Given the description of an element on the screen output the (x, y) to click on. 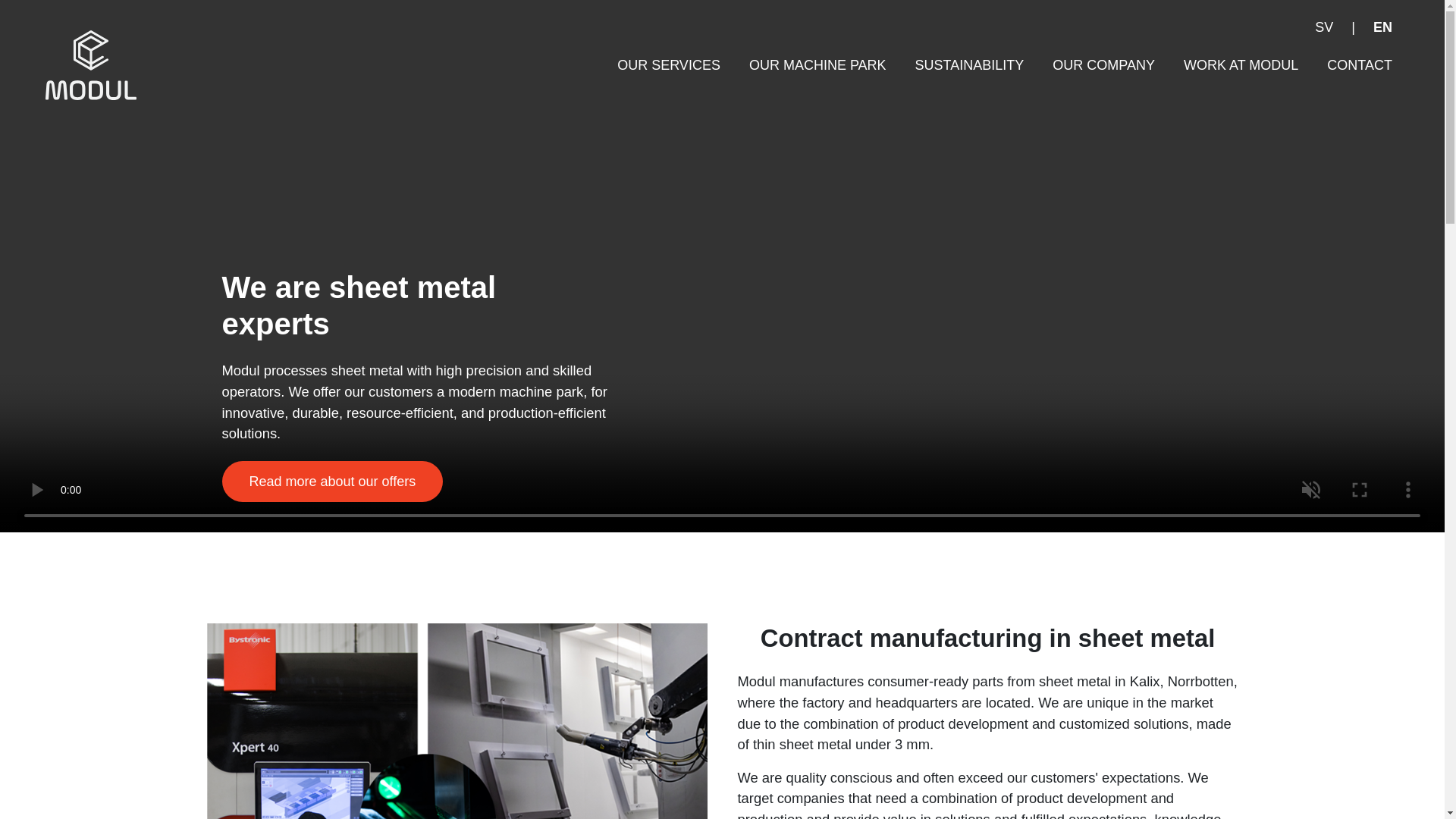
EN (1383, 27)
SUSTAINABILITY (969, 65)
Read more about our offers (331, 481)
OUR SERVICES (668, 65)
OUR MACHINE PARK (817, 65)
SV (1323, 27)
OUR COMPANY (1103, 65)
WORK AT MODUL (1240, 65)
CONTACT (1359, 65)
